Given the description of an element on the screen output the (x, y) to click on. 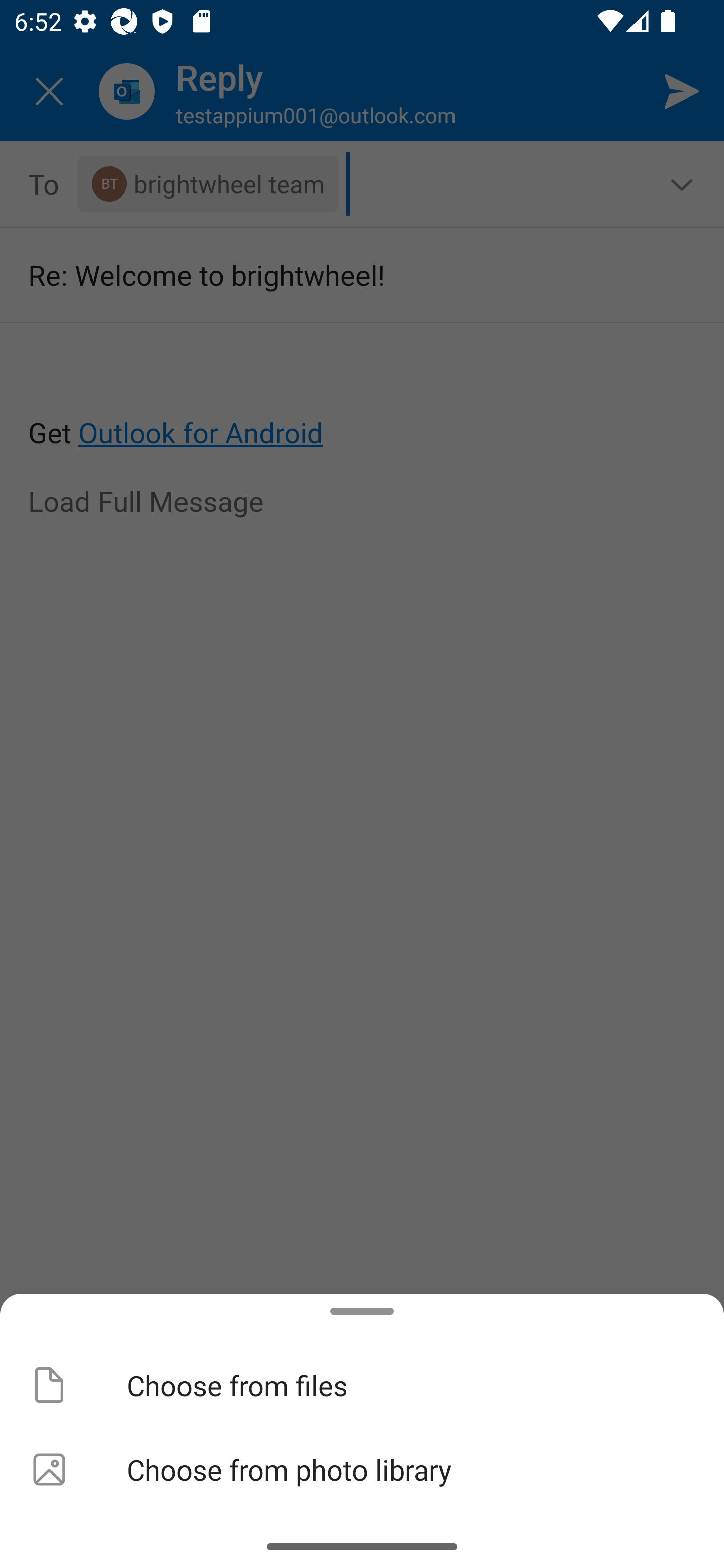
Choose from files (362, 1384)
Choose from photo library (362, 1468)
